Given the description of an element on the screen output the (x, y) to click on. 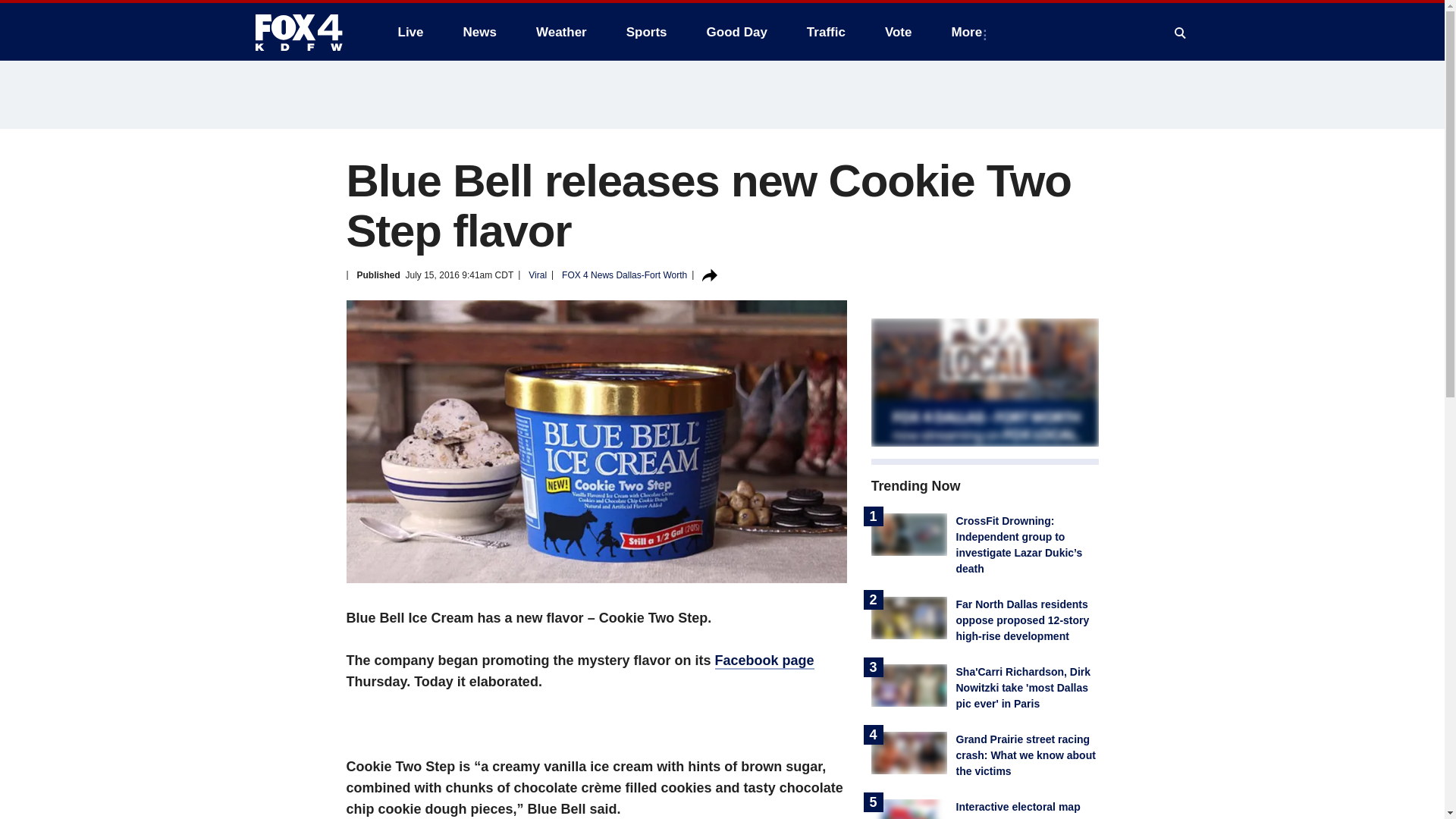
Live (410, 32)
News (479, 32)
Vote (898, 32)
Weather (561, 32)
Sports (646, 32)
Traffic (825, 32)
More (969, 32)
Good Day (736, 32)
